Given the description of an element on the screen output the (x, y) to click on. 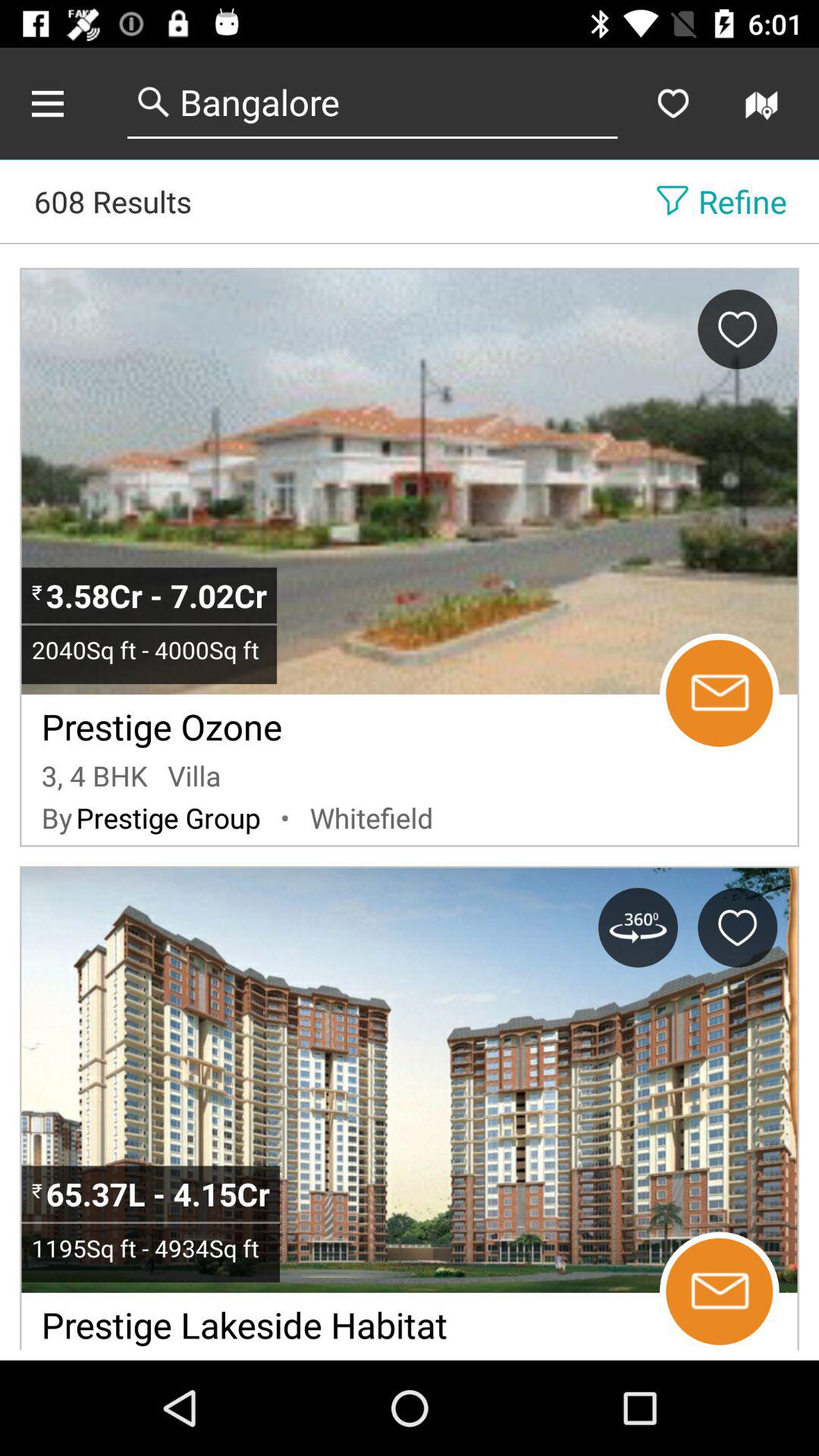
send email (719, 693)
